Given the description of an element on the screen output the (x, y) to click on. 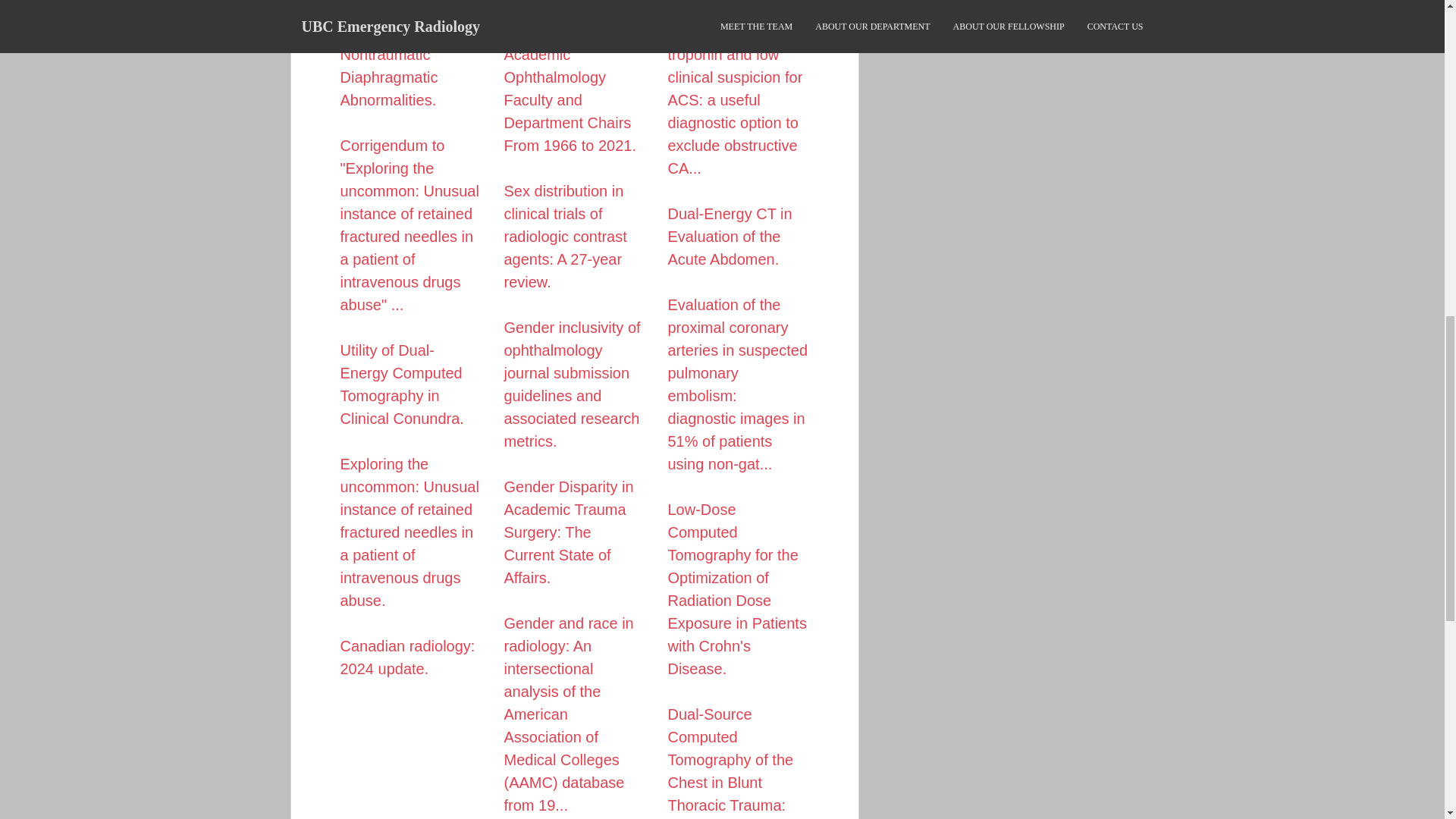
Dual-Energy CT in Evaluation of the Acute Abdomen. (729, 236)
Canadian radiology: 2024 update. (406, 657)
Canadian radiology: 2024 update. (406, 657)
Dual-Energy CT in Evaluation of the Acute Abdomen. (729, 236)
